Given the description of an element on the screen output the (x, y) to click on. 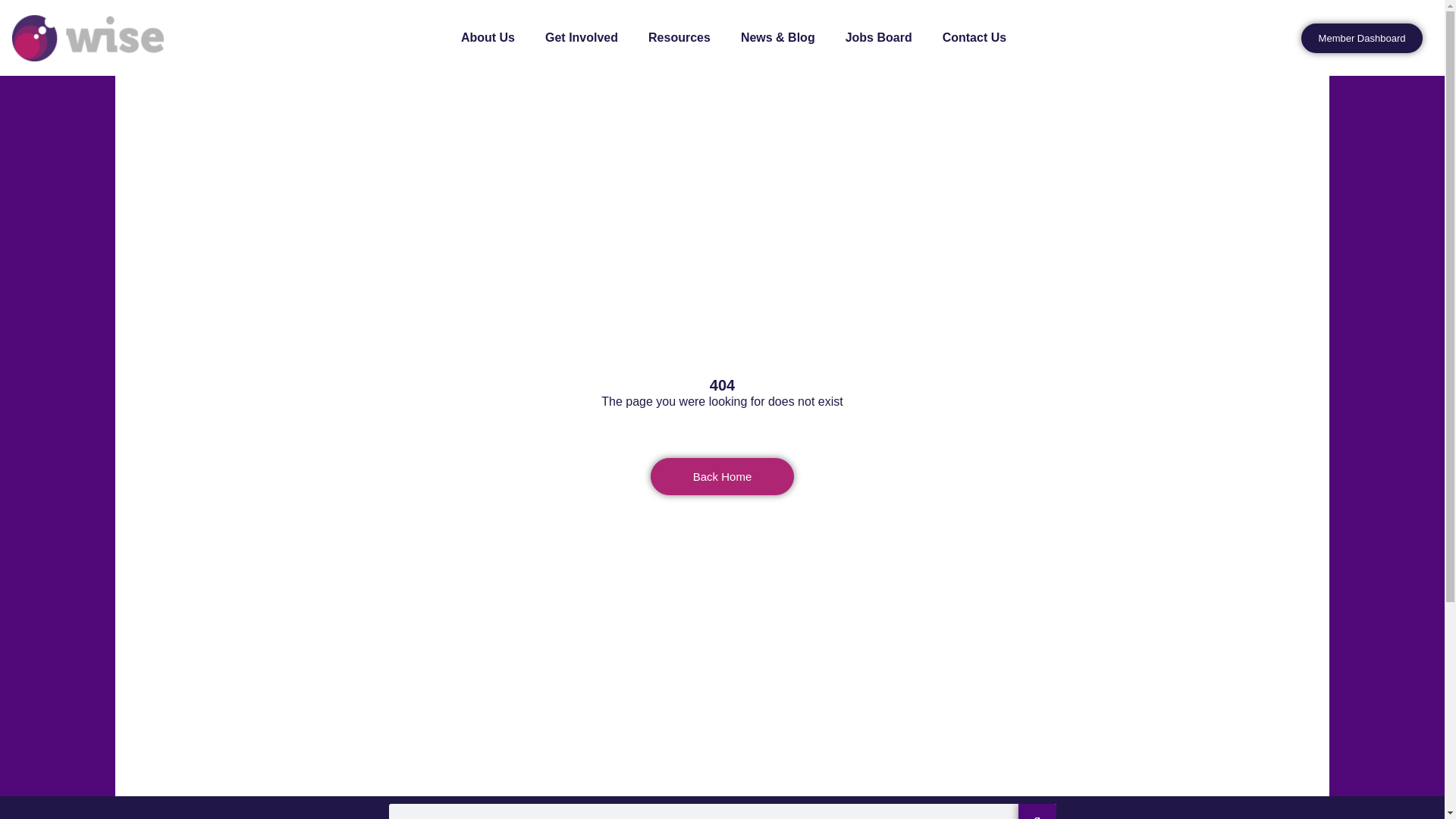
Get Involved (581, 37)
Jobs Board (878, 37)
About Us (487, 37)
Contact Us (974, 37)
Resources (679, 37)
